Given the description of an element on the screen output the (x, y) to click on. 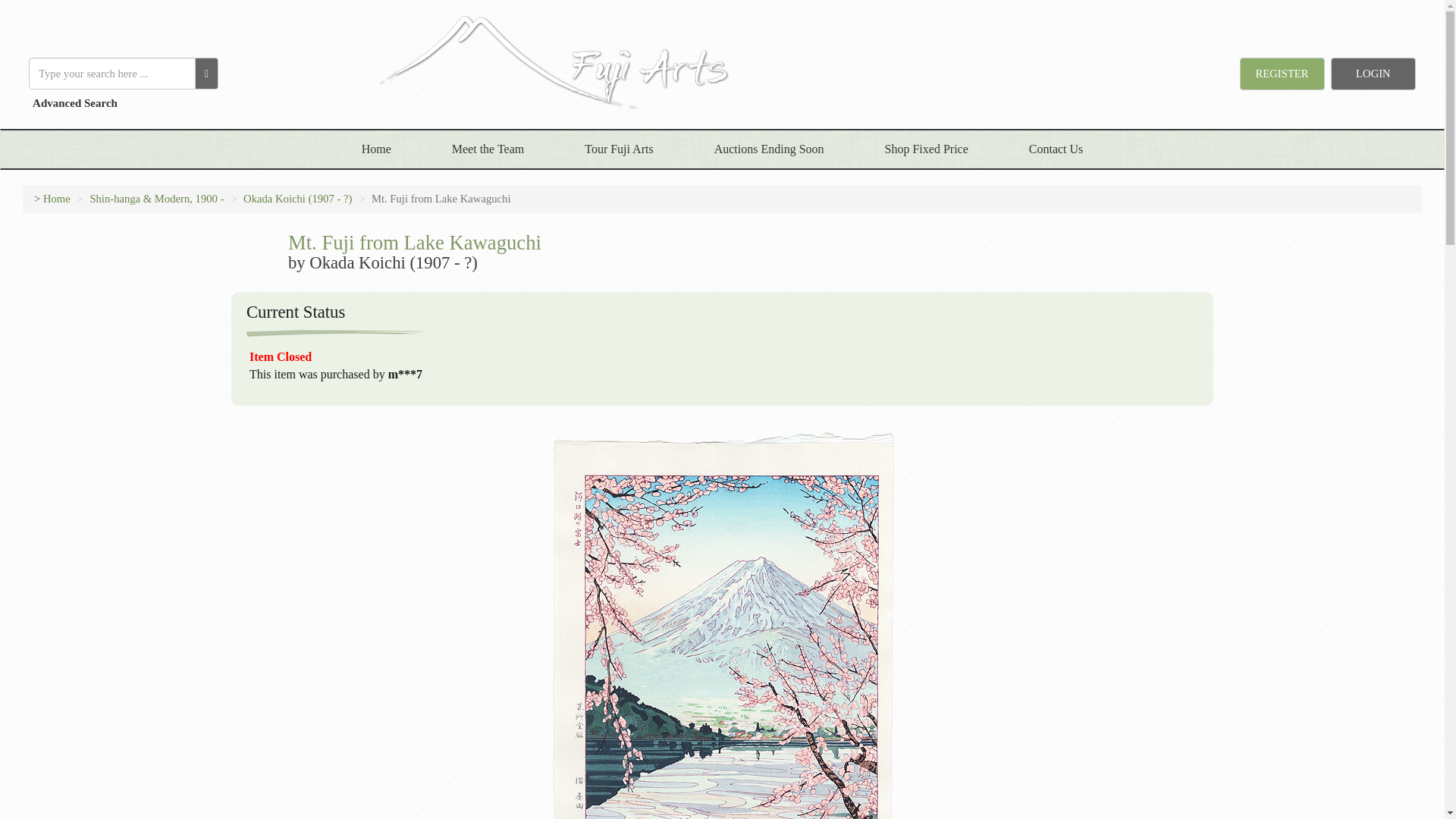
Shop Fixed Price (926, 149)
Tour Fuji Arts (618, 149)
LOGIN (1372, 73)
Advanced Search (73, 102)
Contact Us (1055, 149)
REGISTER (1282, 73)
Meet the Team (488, 149)
Home (376, 149)
Home (56, 198)
Auctions Ending Soon (769, 149)
